Given the description of an element on the screen output the (x, y) to click on. 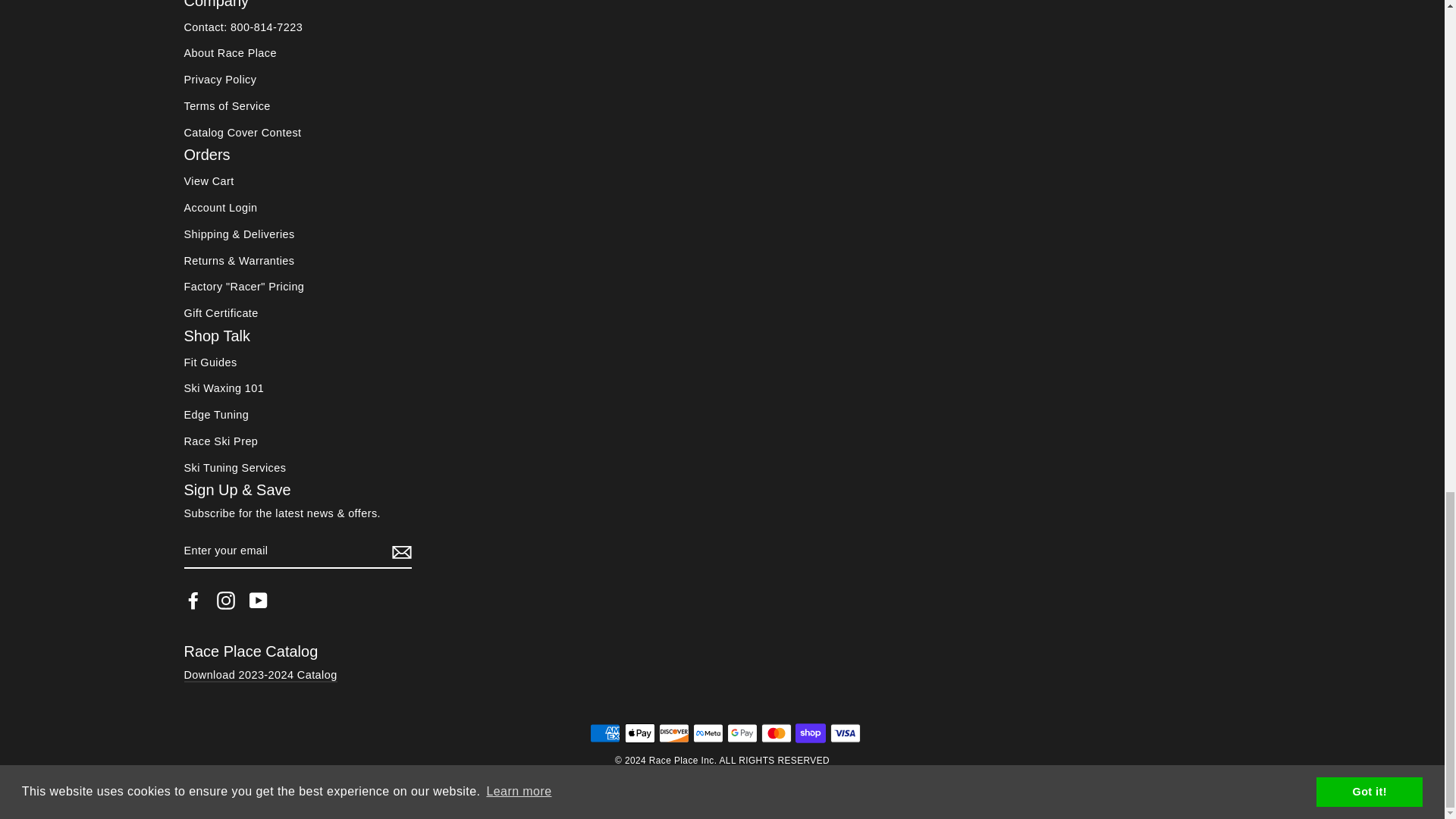
Google Pay (741, 733)
American Express (604, 733)
Race Place on Yelp (291, 600)
Discover (673, 733)
Shop Pay (809, 733)
Mastercard (776, 733)
Race Place on Instagram (225, 600)
Race-Place-Catalog-2023-2024-WEB (259, 675)
Apple Pay (639, 733)
Race Place on YouTube (257, 600)
Meta Pay (708, 733)
Race Place on Facebook (192, 600)
